Given the description of an element on the screen output the (x, y) to click on. 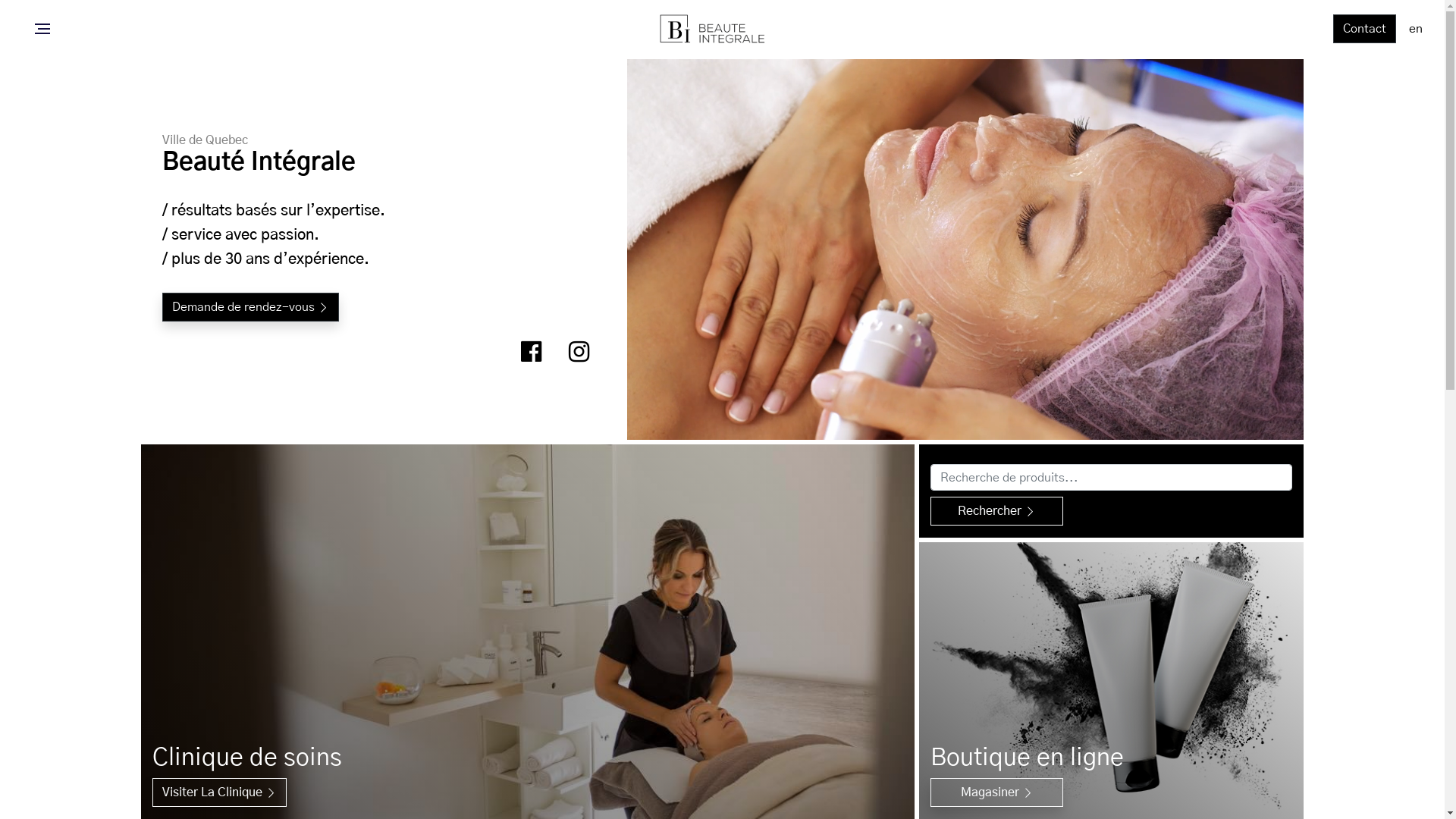
Contact Element type: text (1364, 28)
Magasiner Element type: text (996, 792)
Visiter La Clinique Element type: text (218, 792)
Menu Element type: hover (42, 28)
en Element type: text (1415, 28)
Rechercher Element type: text (996, 510)
Demande de rendez-vous Element type: text (250, 306)
